Given the description of an element on the screen output the (x, y) to click on. 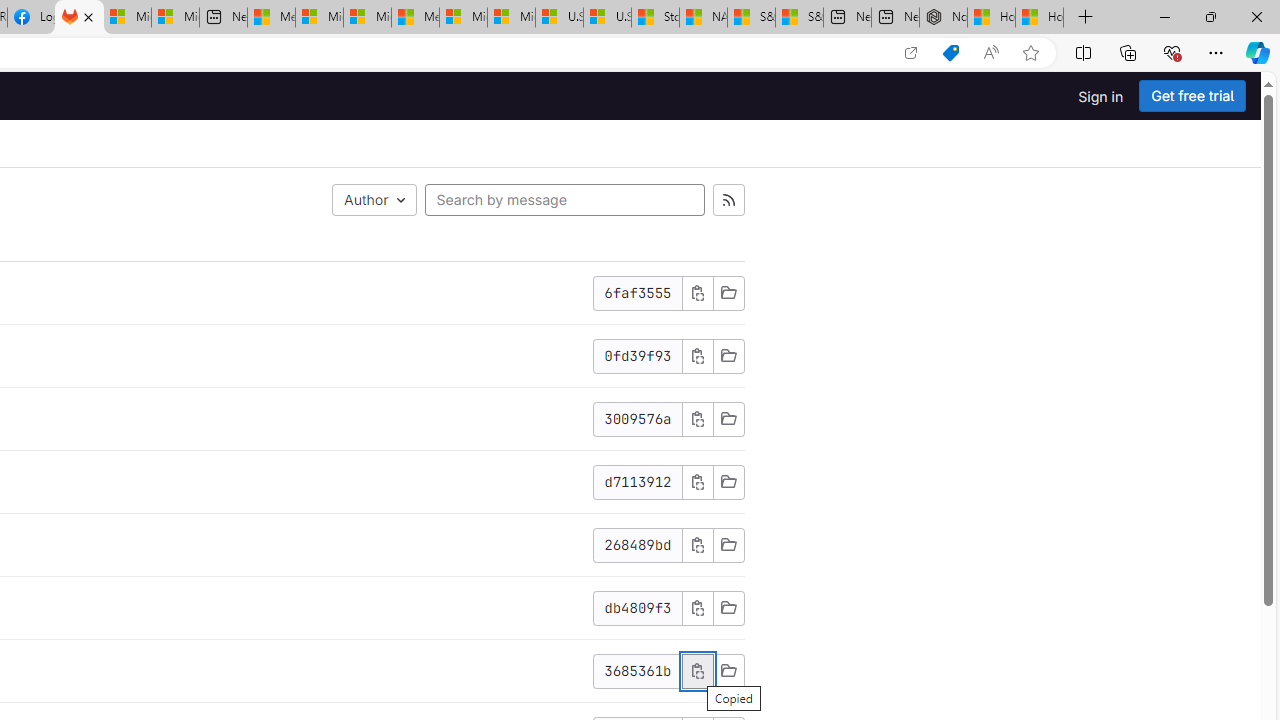
Get free trial (1192, 95)
Author (374, 200)
Class: s16 (728, 670)
Class: s16 gl-icon gl-button-icon  (697, 670)
Search by message (564, 200)
Microsoft account | Home (367, 17)
Open in app (910, 53)
Get free trial (1192, 95)
